Given the description of an element on the screen output the (x, y) to click on. 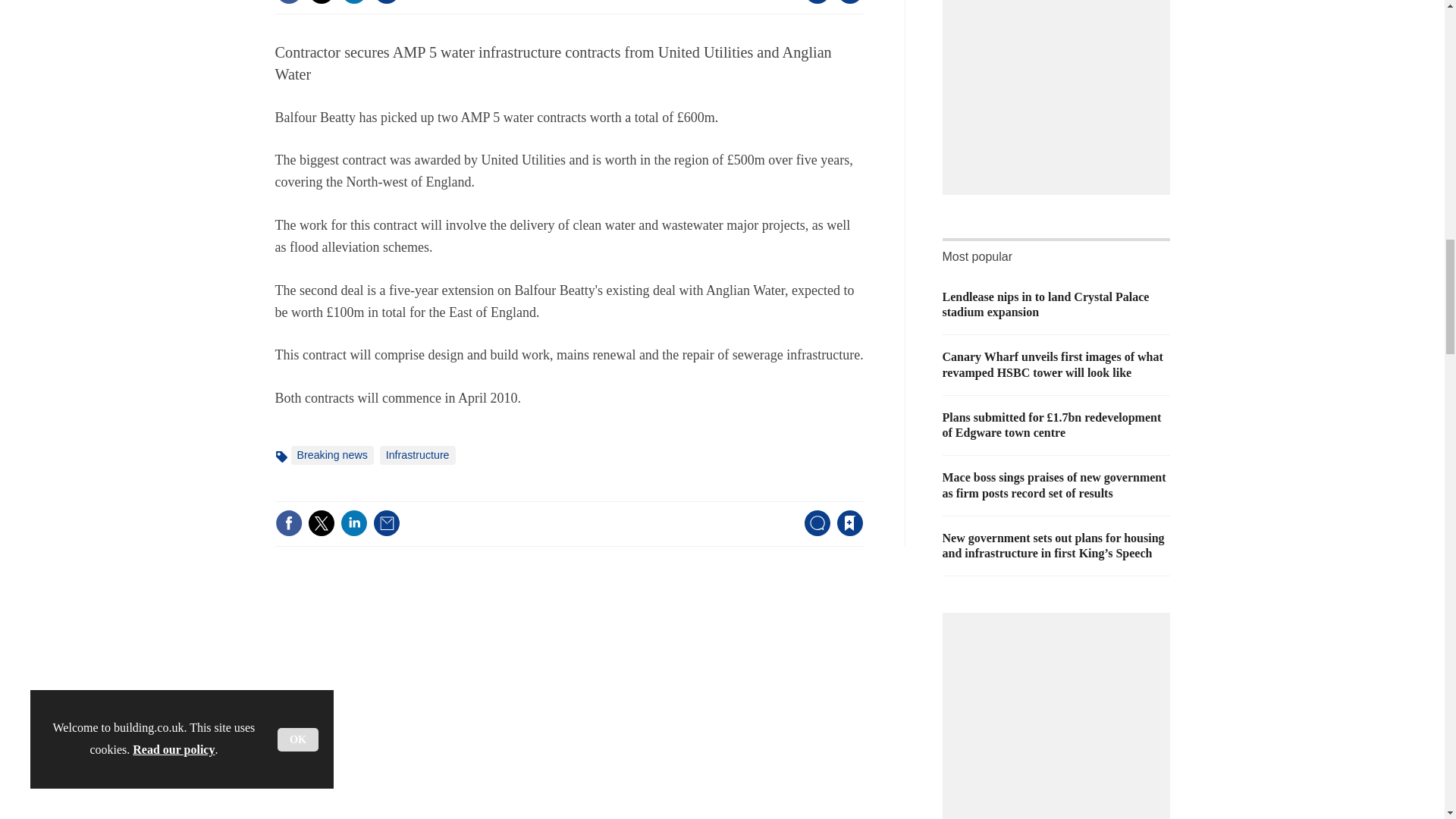
Email this article (386, 2)
Share this on Facebook (288, 523)
Share this on Twitter (320, 523)
No comments (812, 3)
Share this on Facebook (288, 2)
Share this on Linked in (352, 2)
3rd party ad content (1059, 718)
3rd party ad content (1059, 84)
Email this article (386, 523)
No comments (812, 531)
Share this on Linked in (352, 523)
Share this on Twitter (320, 2)
